Given the description of an element on the screen output the (x, y) to click on. 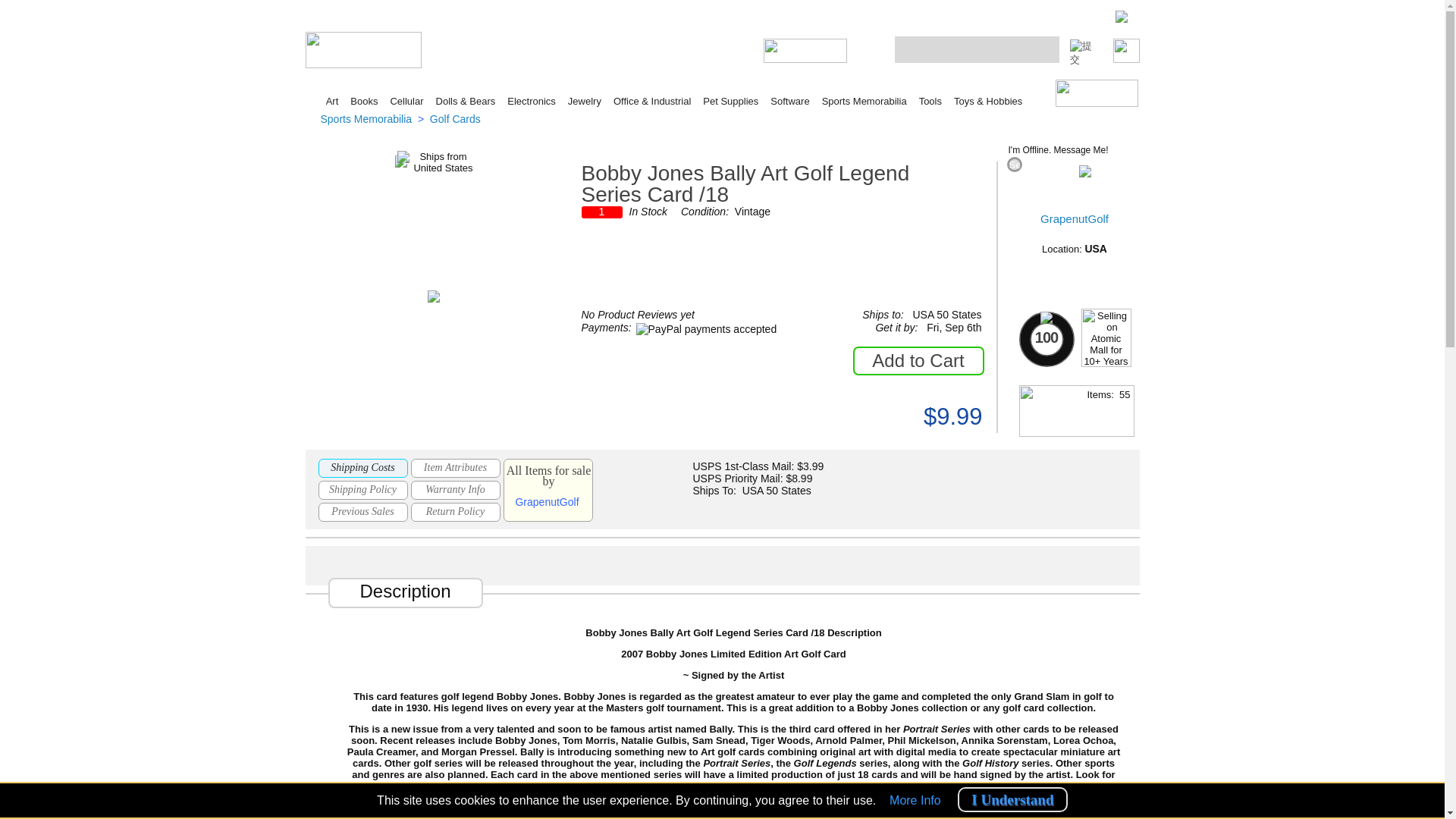
Pet Supplies (730, 101)
Share with your friends on Twitter (766, 565)
Complete Your Order (828, 69)
Dashboard (498, 48)
Art (332, 101)
Share with your friends on Reddit (679, 565)
Send Private Message (1014, 163)
When choosing the Seller's quickest ship method (909, 329)
Software (789, 101)
Click (1096, 92)
